Given the description of an element on the screen output the (x, y) to click on. 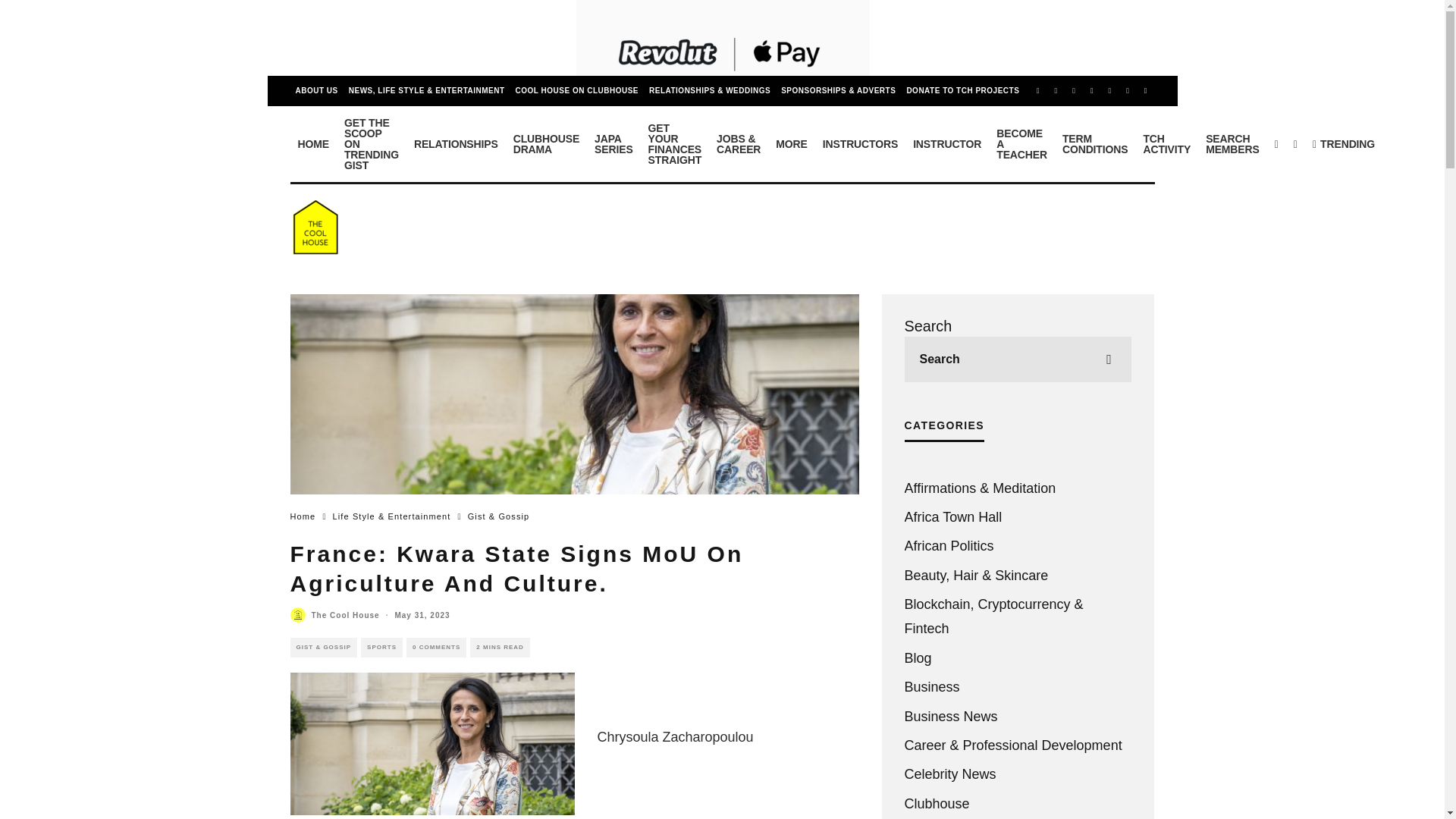
Buy now! (577, 91)
ABOUT US (315, 91)
